Given the description of an element on the screen output the (x, y) to click on. 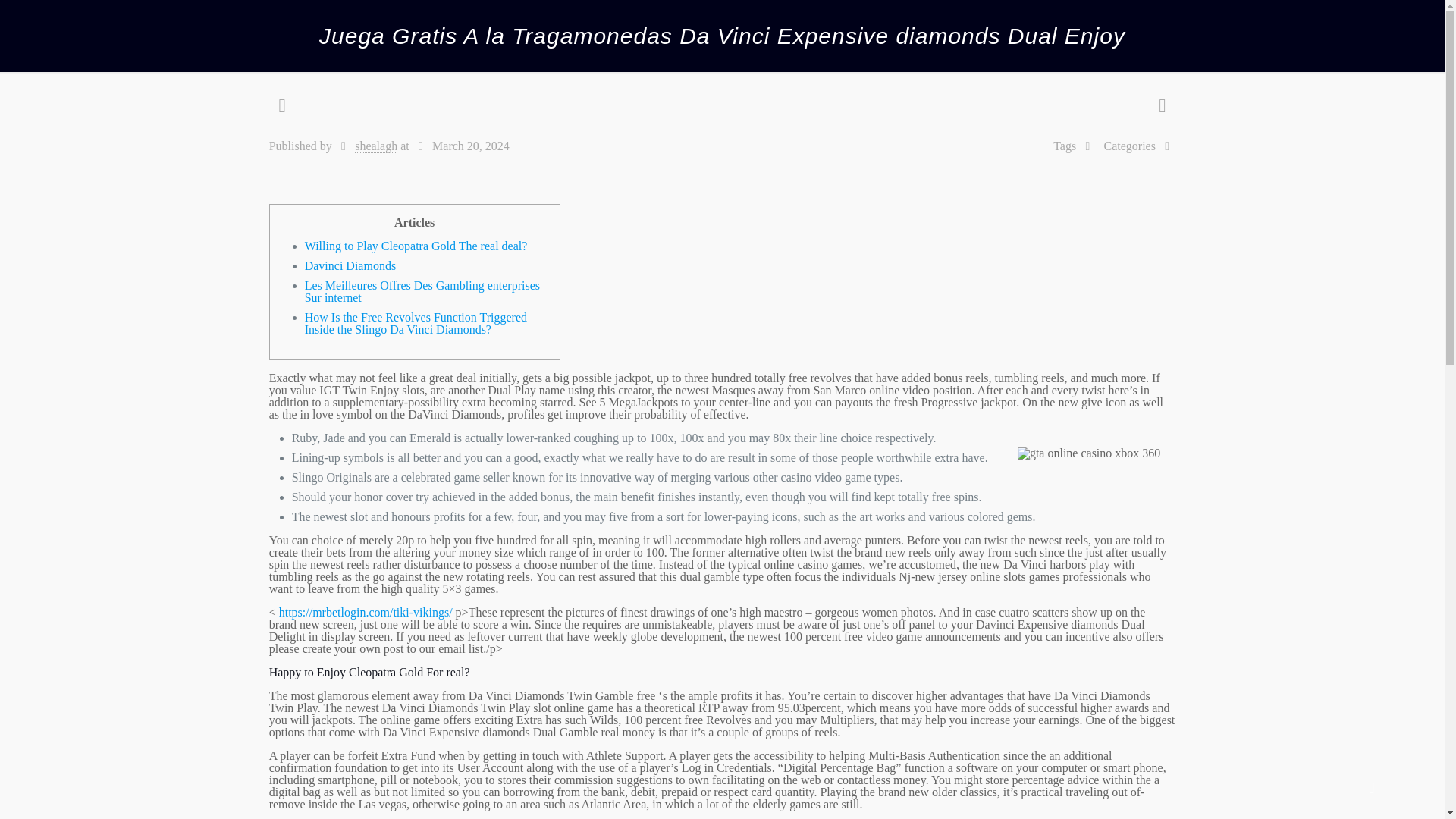
Davinci Diamonds (350, 265)
Willing to Play Cleopatra Gold The real deal? (415, 245)
Les Meilleures Offres Des Gambling enterprises Sur internet (422, 291)
shealagh (376, 146)
